Given the description of an element on the screen output the (x, y) to click on. 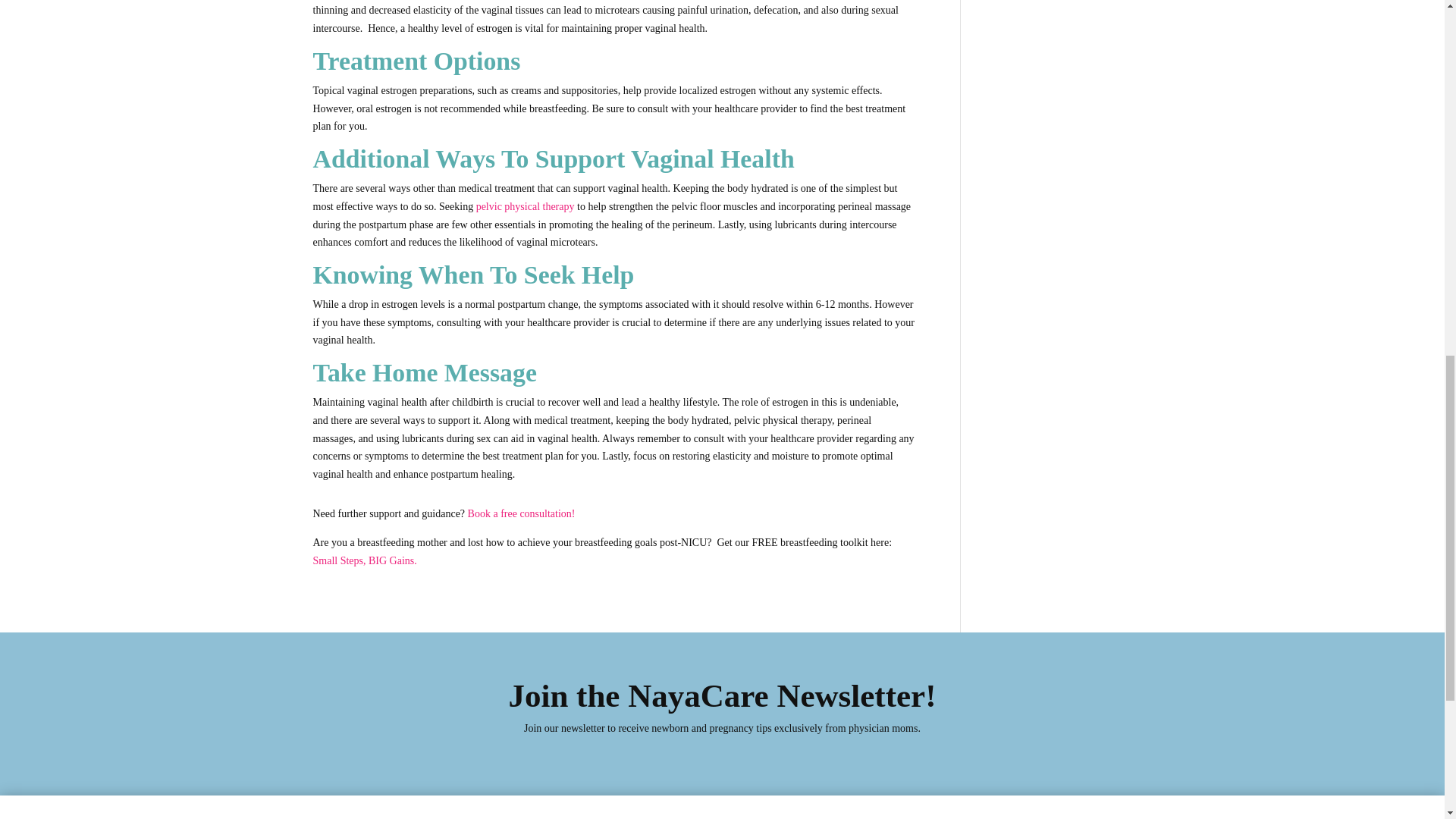
Book a free consultation! (521, 513)
pelvic physical therapy (525, 206)
Small Steps, BIG Gains. (364, 560)
